Given the description of an element on the screen output the (x, y) to click on. 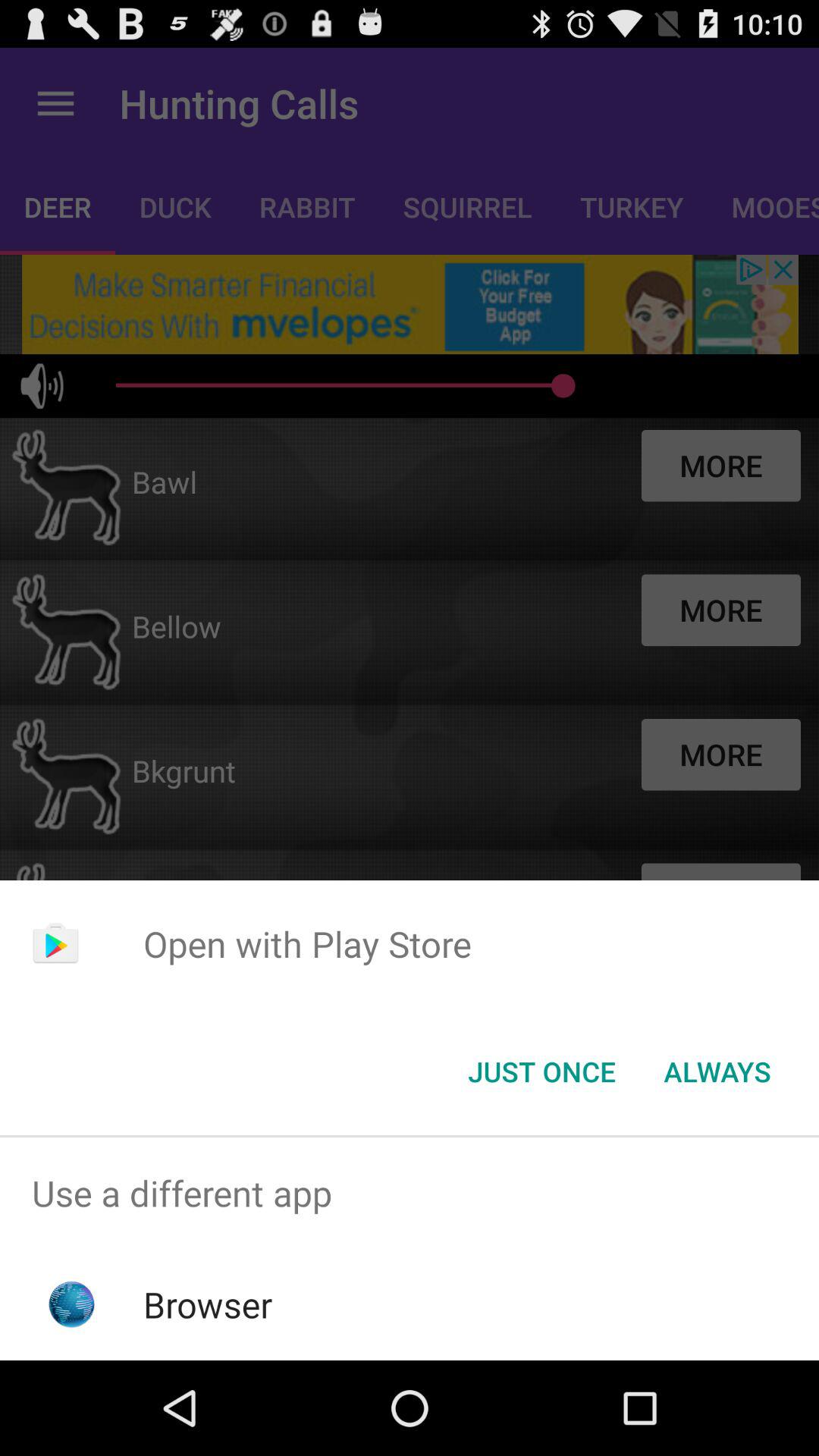
launch the just once item (541, 1071)
